Given the description of an element on the screen output the (x, y) to click on. 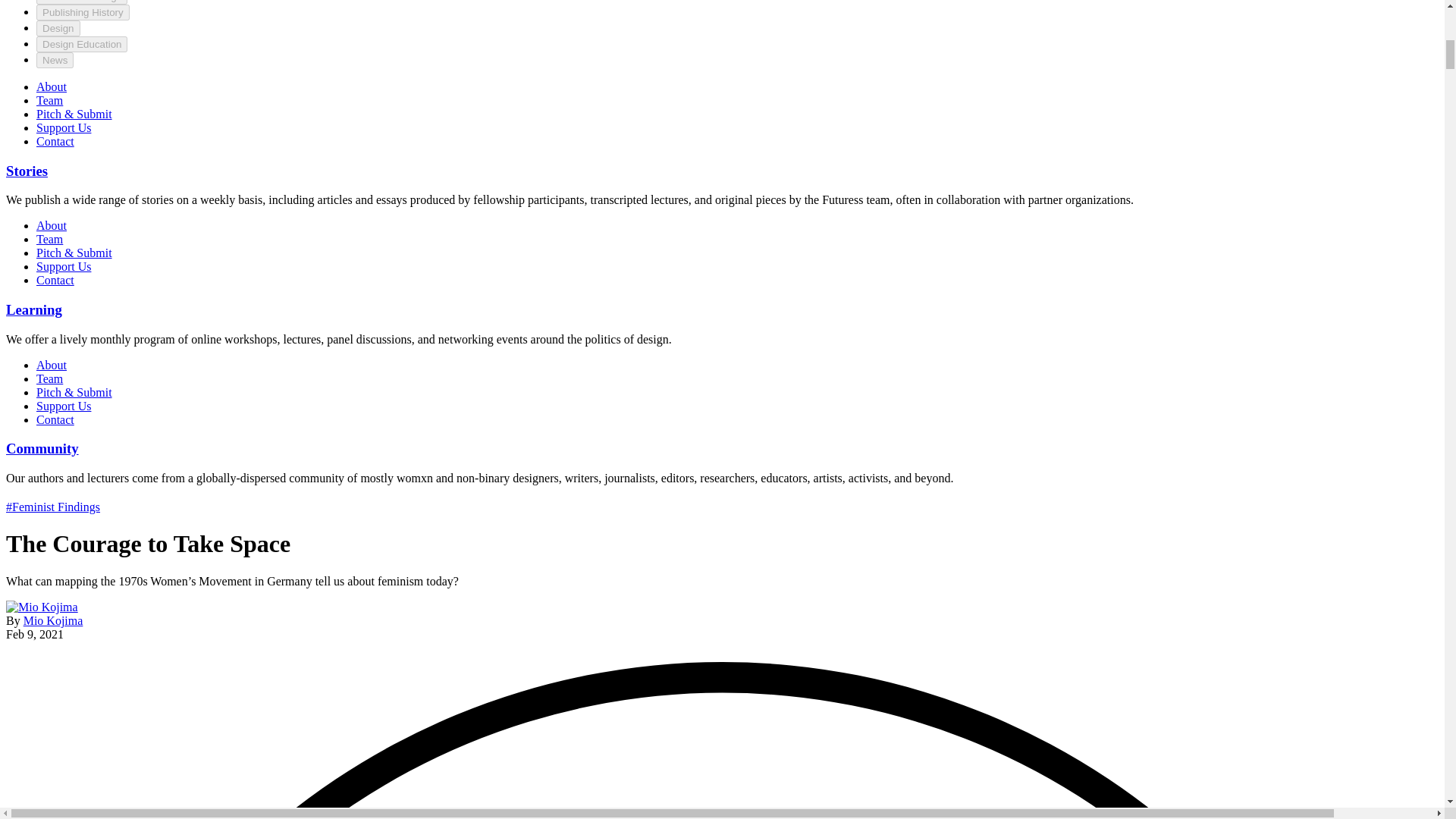
Publishing History (82, 12)
Design (58, 28)
Feminist Findings (82, 2)
Publishing History (82, 12)
Feminist Findings (52, 506)
Design Education (82, 44)
News (55, 59)
Design Education (82, 44)
Feminist Findings (82, 2)
Design (58, 28)
